Given the description of an element on the screen output the (x, y) to click on. 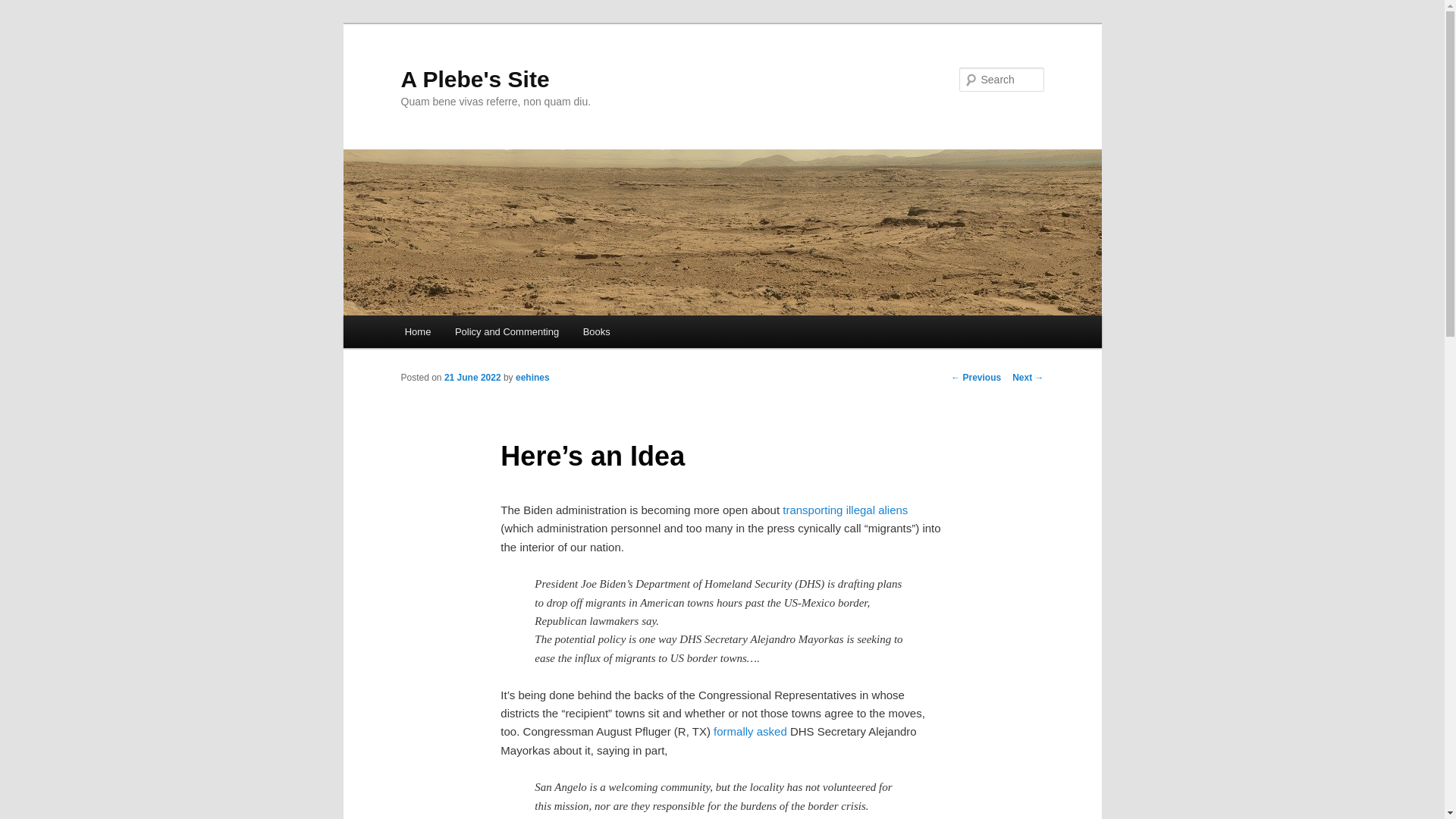
21 June 2022 (472, 377)
View all posts by eehines (532, 377)
Search (24, 8)
Home (417, 331)
A Plebe's Site (474, 78)
transporting illegal aliens (845, 509)
eehines (532, 377)
Policy and Commenting (506, 331)
Books (596, 331)
formally asked (750, 730)
06:54 (472, 377)
